Given the description of an element on the screen output the (x, y) to click on. 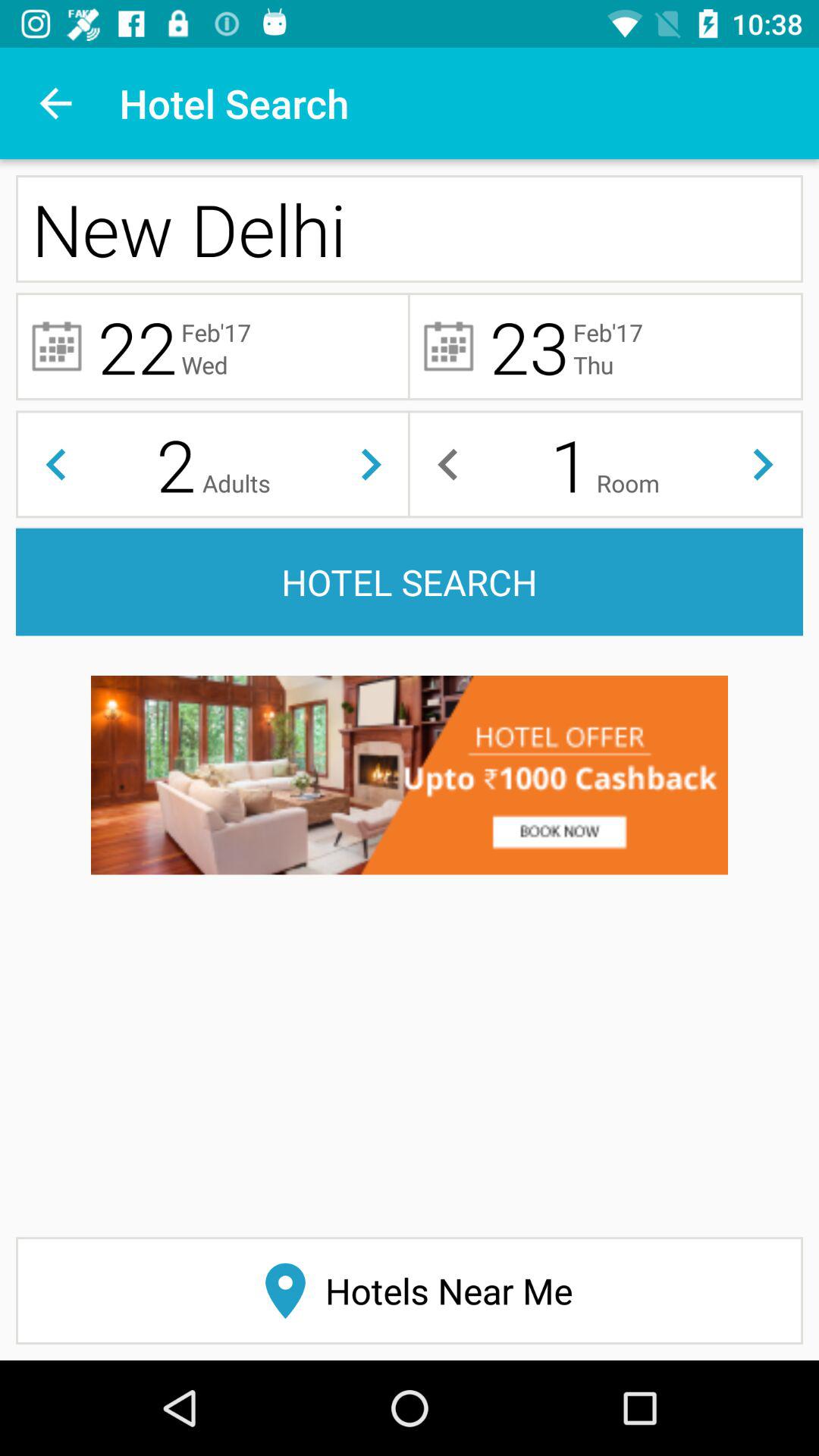
increase guests (371, 464)
